Given the description of an element on the screen output the (x, y) to click on. 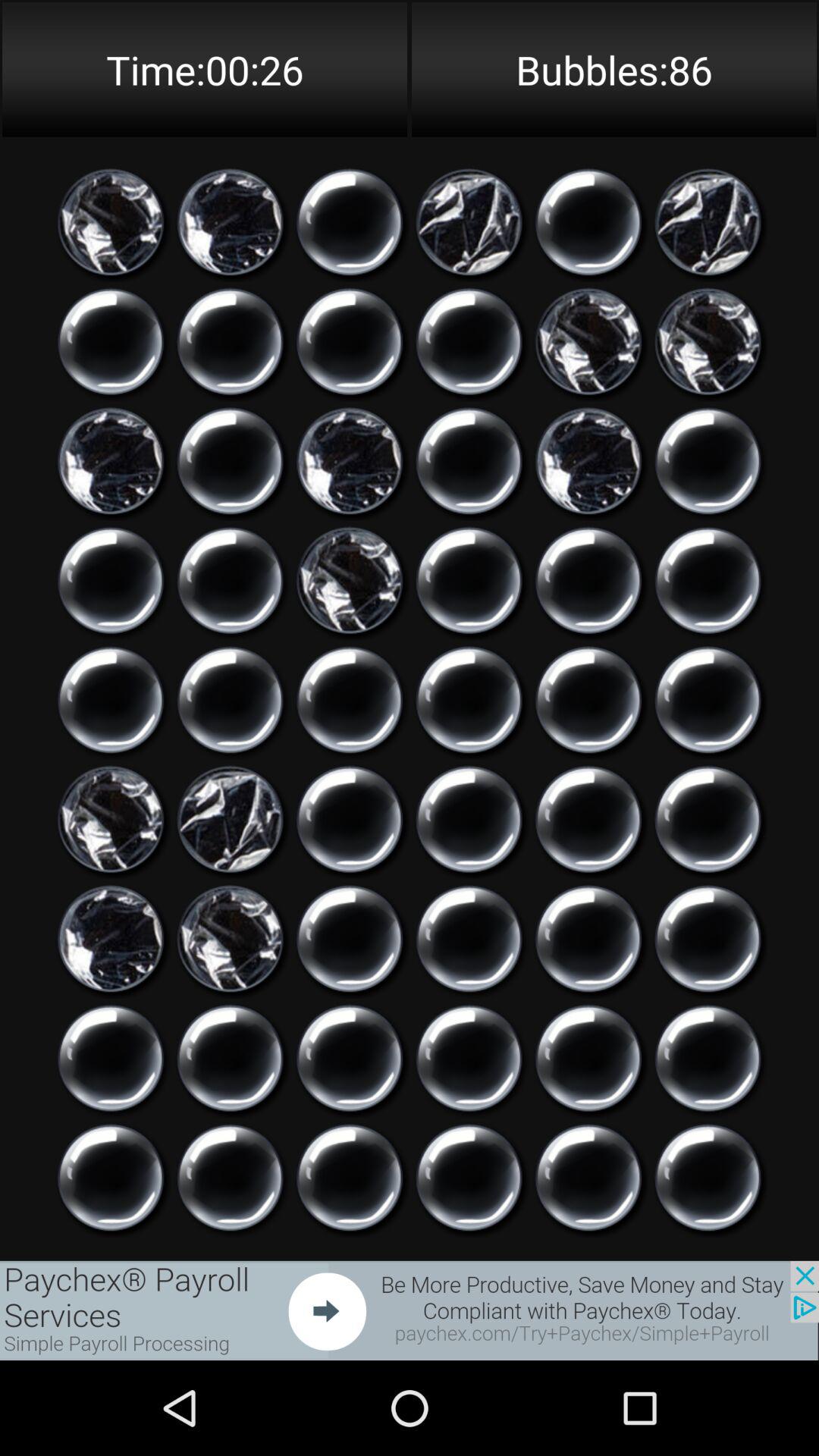
option (110, 222)
